Given the description of an element on the screen output the (x, y) to click on. 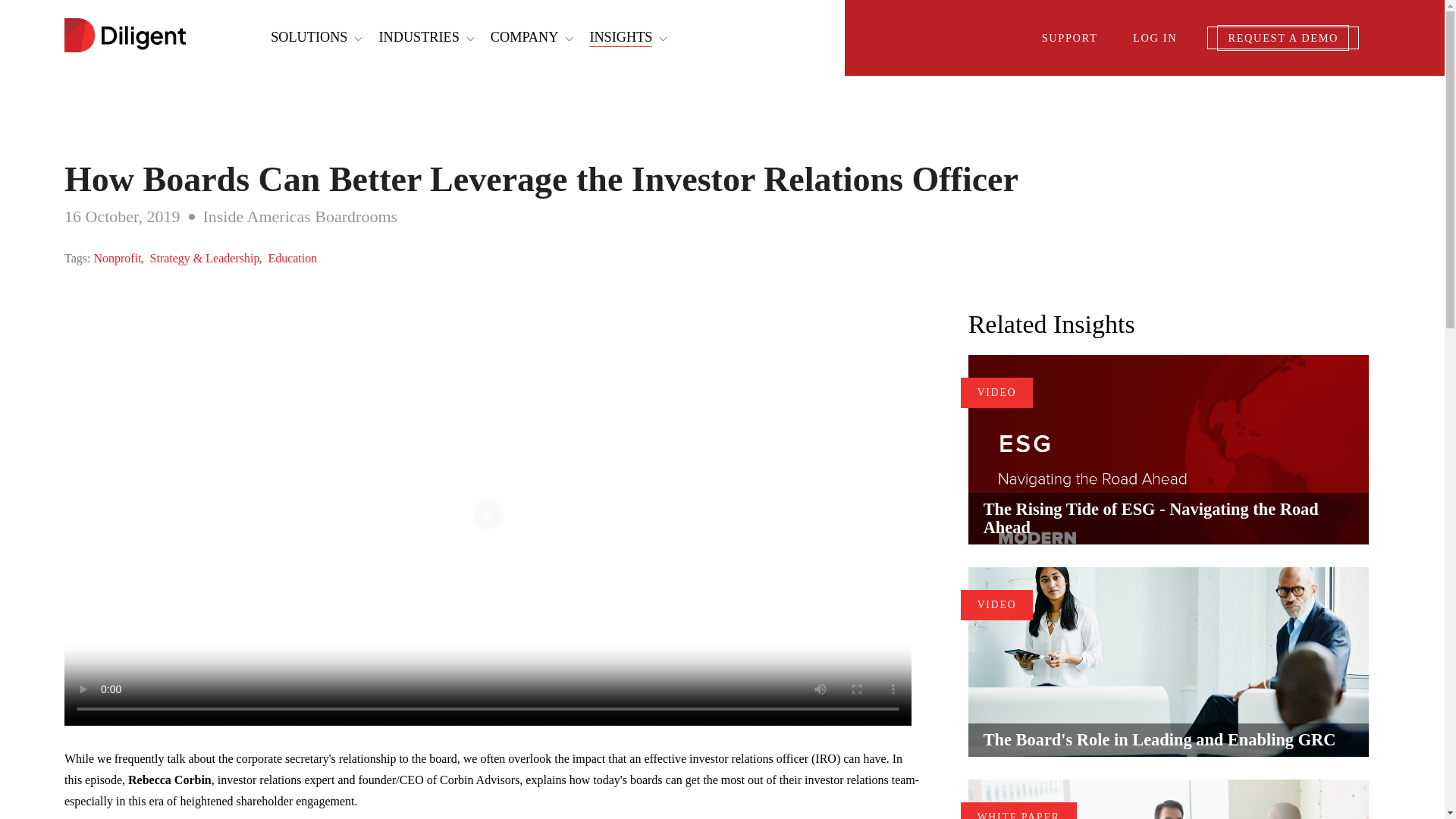
SOLUTIONS (308, 37)
company (524, 37)
solutions (308, 37)
industries (418, 37)
INDUSTRIES (418, 37)
Insights (620, 37)
HeaderLogo (125, 37)
